Given the description of an element on the screen output the (x, y) to click on. 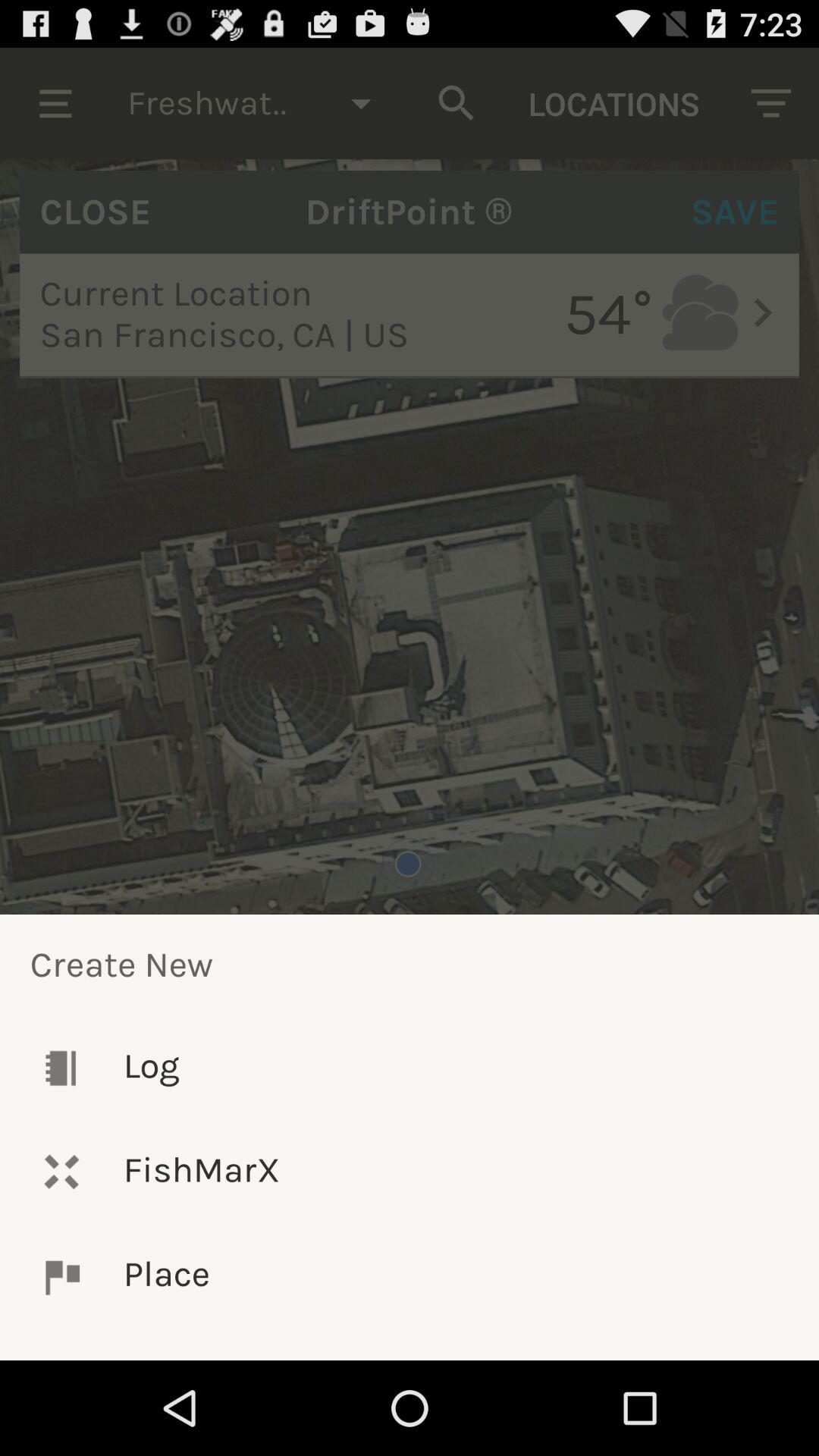
open icon below the log icon (409, 1171)
